Given the description of an element on the screen output the (x, y) to click on. 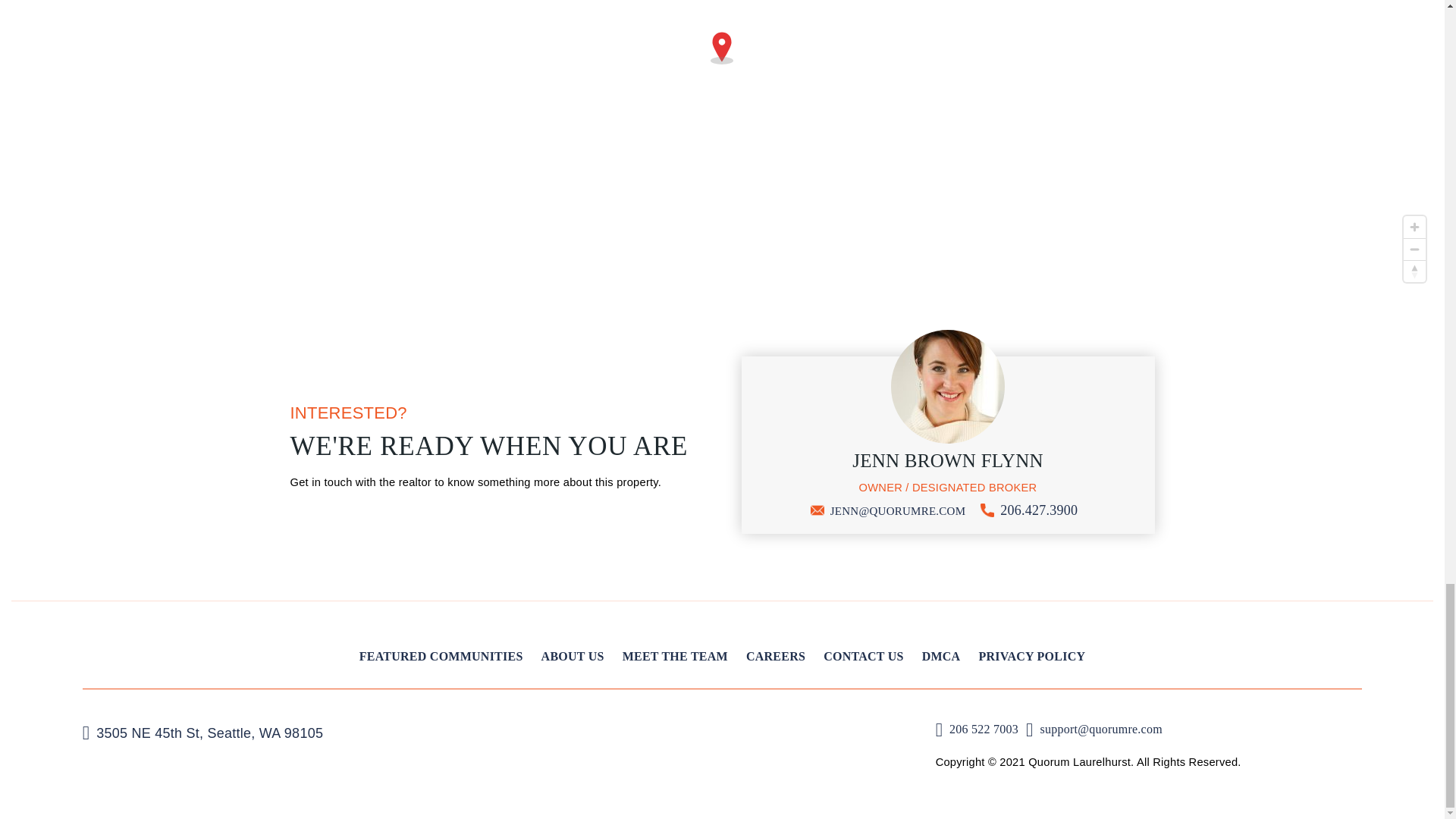
Zoom in (1414, 227)
Reset bearing to north (1414, 270)
Zoom out (1414, 249)
